Given the description of an element on the screen output the (x, y) to click on. 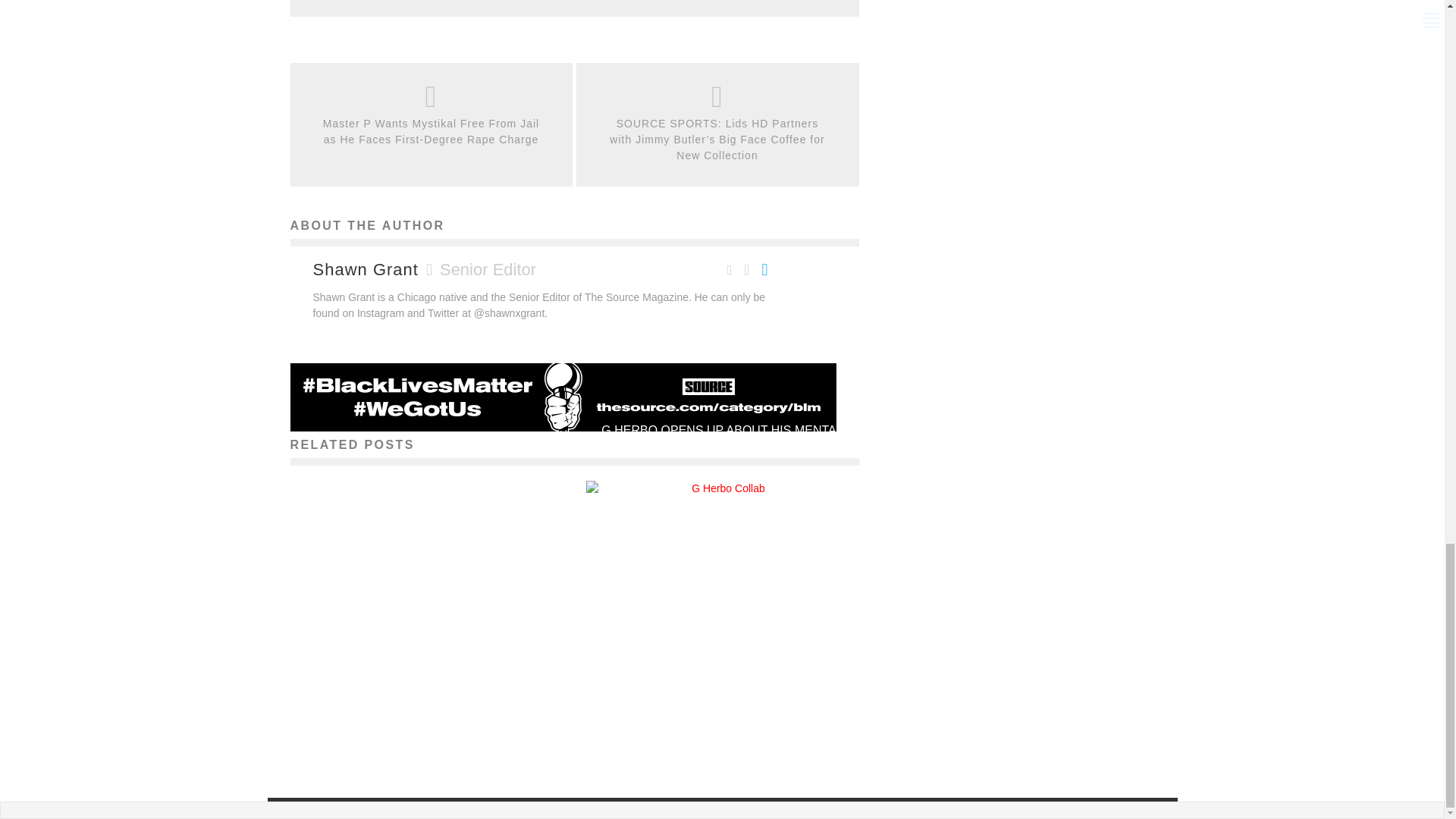
G HERBO OPENS UP ABOUT HIS MENTAL HEALTH AND SEEKING THERAPY (722, 440)
Toniesha Payne (381, 731)
Shawn Grant (365, 269)
Mira B (674, 474)
